Given the description of an element on the screen output the (x, y) to click on. 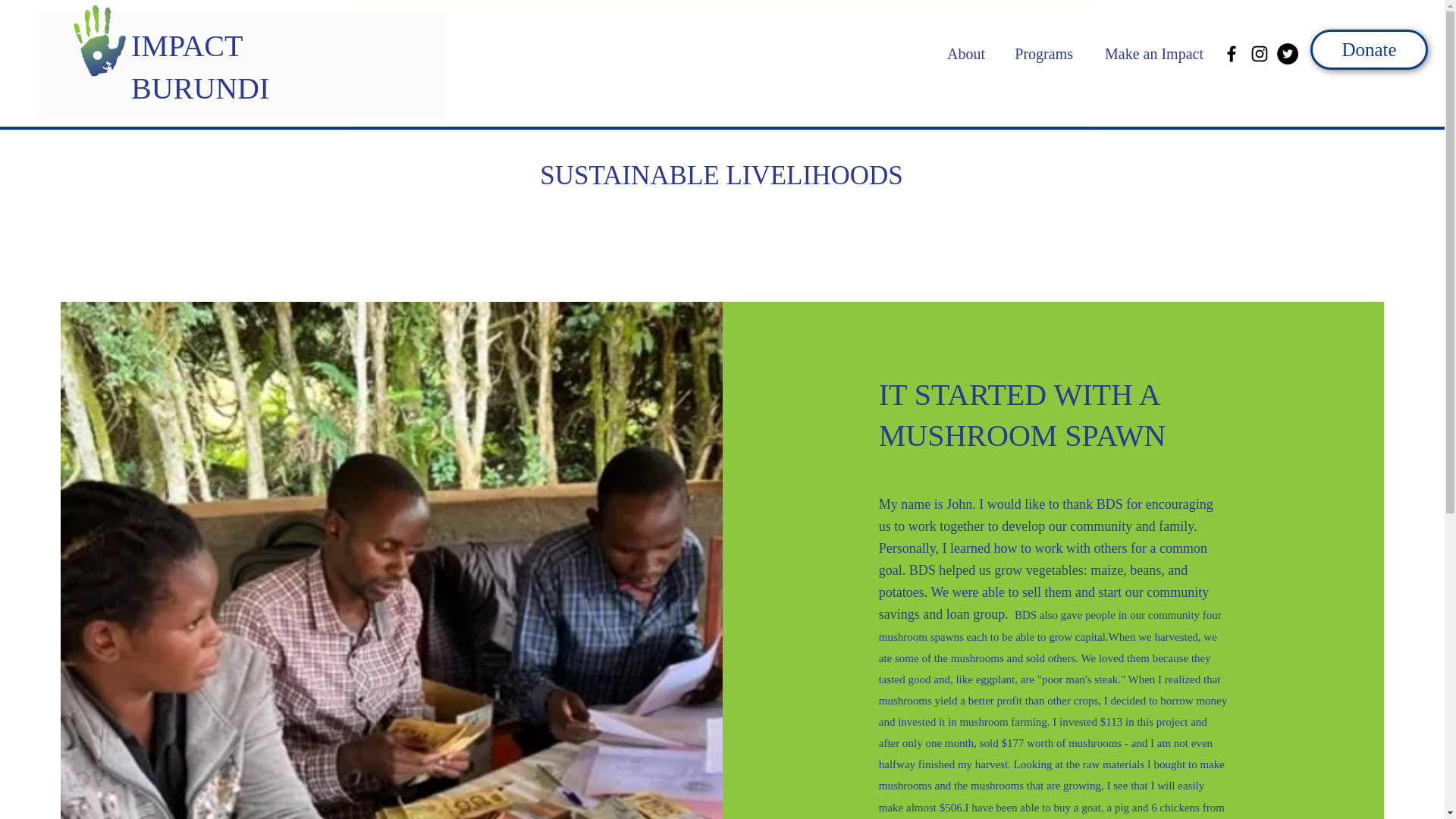
Programs (1036, 53)
Donate (1369, 49)
Make an Impact (1145, 53)
IMPACT BURUNDI (200, 66)
